Given the description of an element on the screen output the (x, y) to click on. 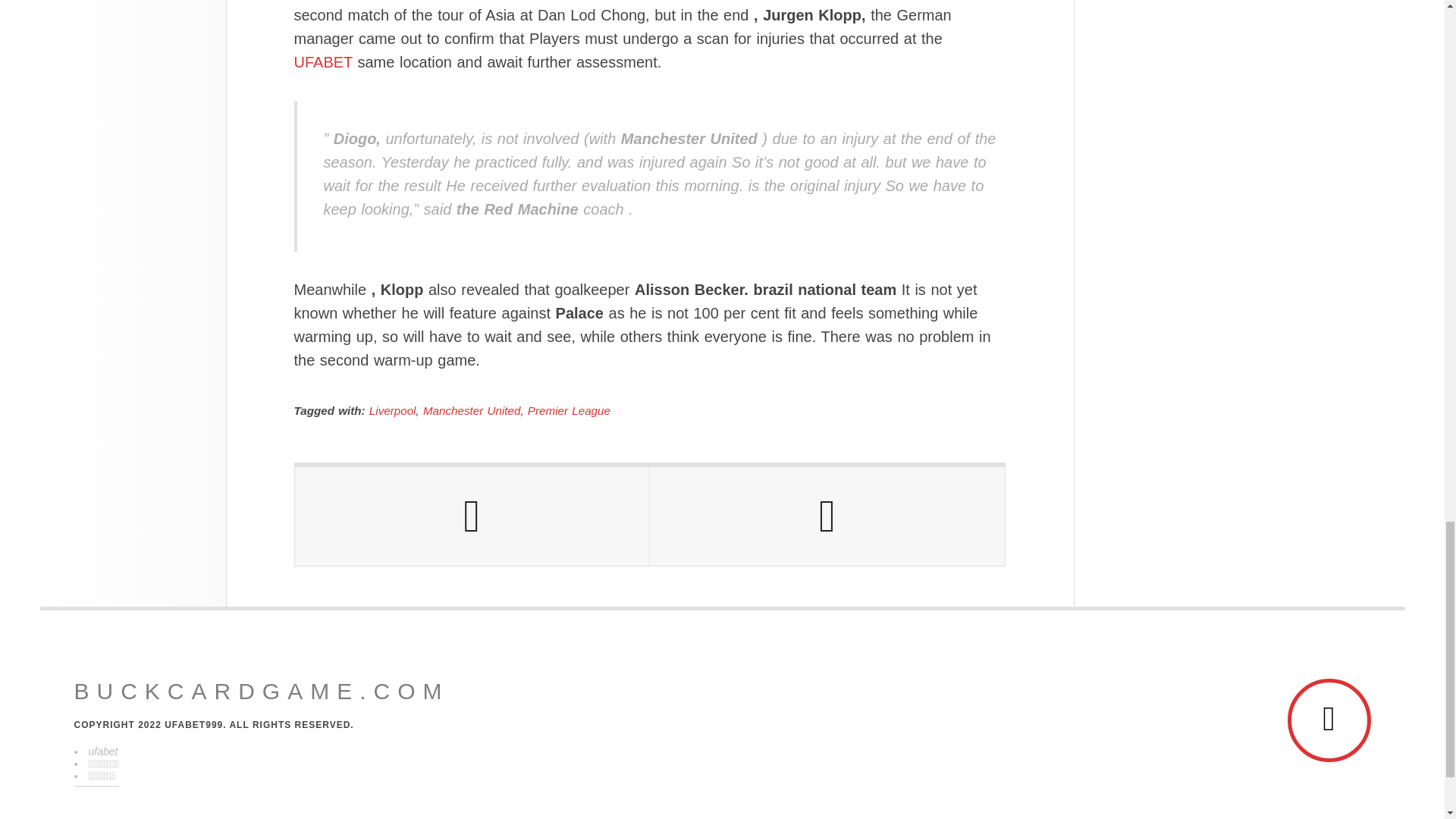
Manchester United (471, 410)
buckcardgame.com (261, 691)
ufabet (102, 751)
Liverpool (392, 410)
Previous Post (471, 515)
BUCKCARDGAME.COM (261, 691)
Premier League (568, 410)
Next Post (826, 515)
UFABET (323, 62)
